Given the description of an element on the screen output the (x, y) to click on. 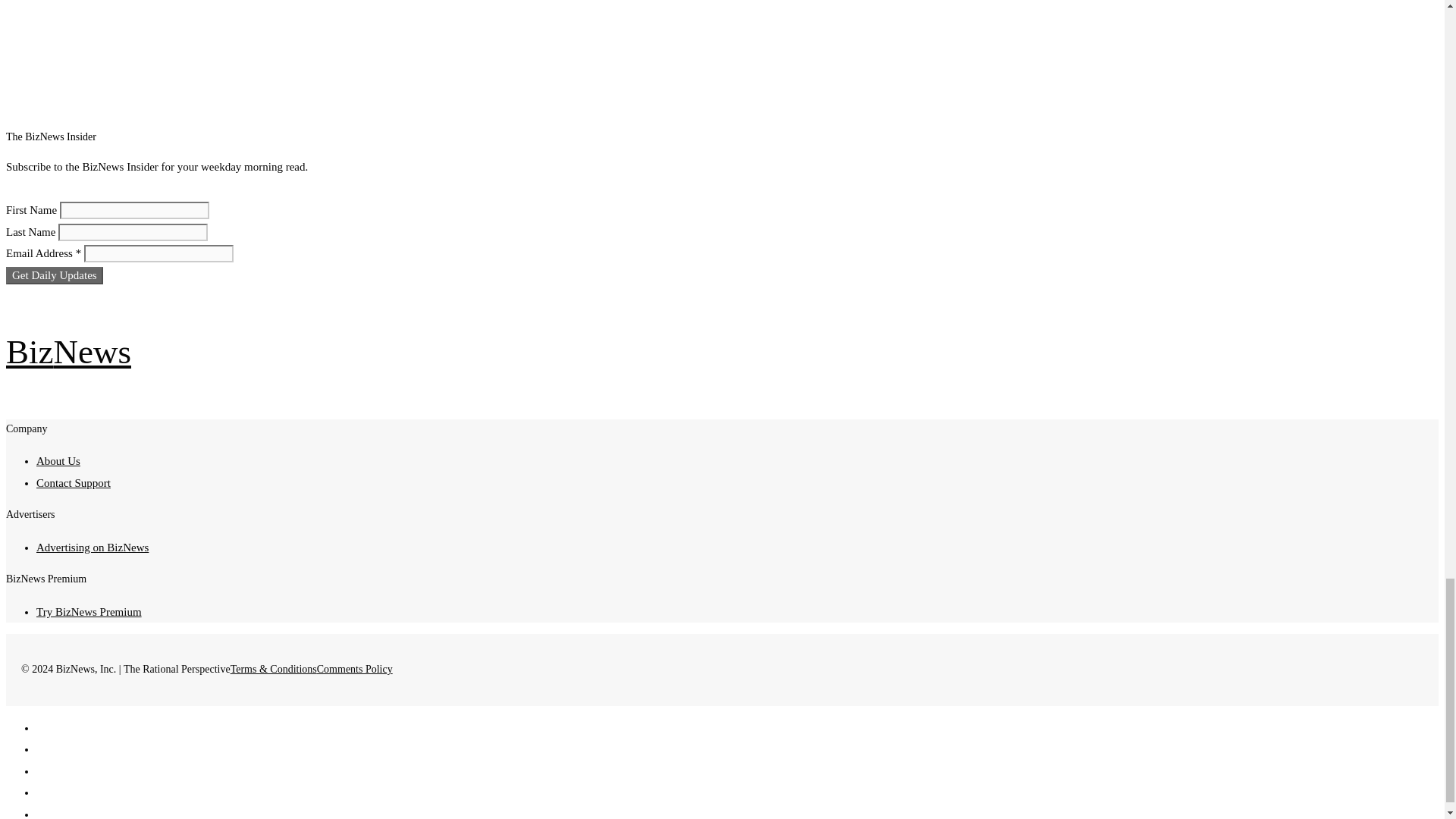
Get Daily Updates (54, 275)
BizNews (68, 351)
Spotify Embed: BizNews Radio (464, 40)
